Given the description of an element on the screen output the (x, y) to click on. 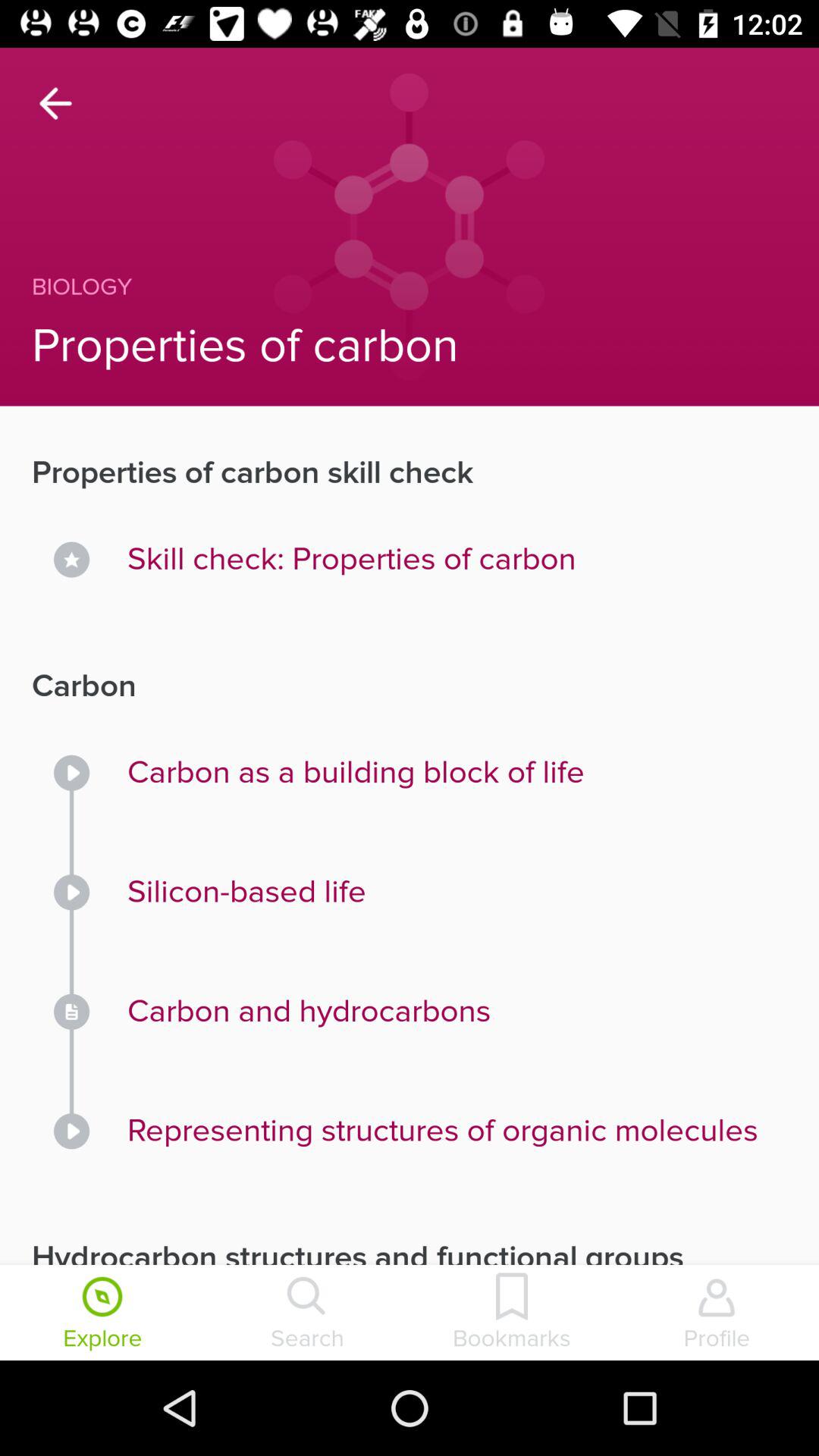
choose the item above the properties of carbon (377, 286)
